Given the description of an element on the screen output the (x, y) to click on. 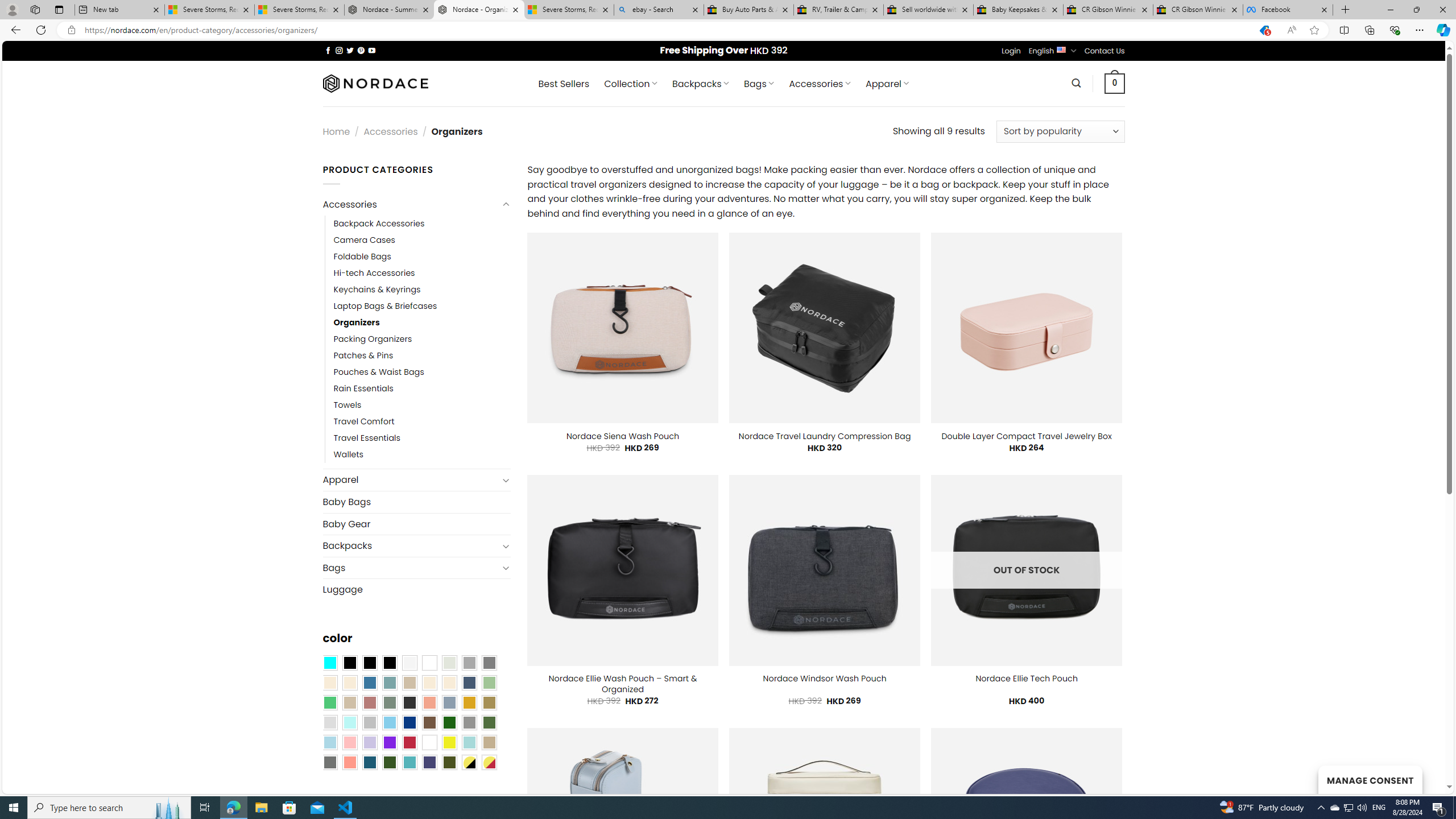
Beige (329, 681)
Pouches & Waist Bags (378, 371)
Blue (369, 681)
Army Green (449, 762)
Baby Bags (416, 501)
Purple (389, 741)
Login (1010, 50)
Browser essentials (1394, 29)
App bar (728, 29)
Refresh (40, 29)
Read aloud this page (Ctrl+Shift+U) (1291, 29)
Bags (410, 567)
Emerald Green (329, 702)
Travel Comfort (363, 421)
